Given the description of an element on the screen output the (x, y) to click on. 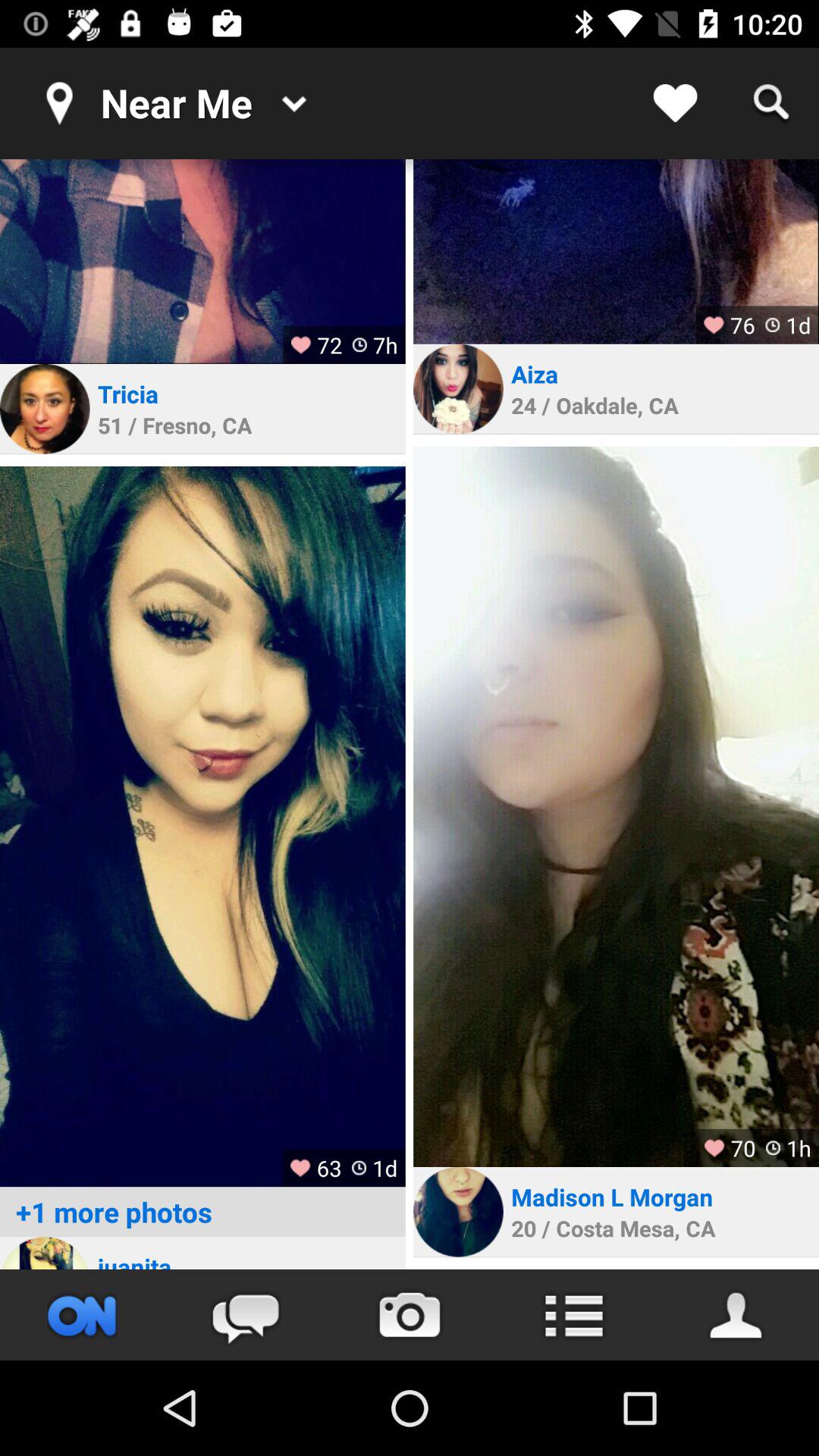
go to save (737, 1315)
